Given the description of an element on the screen output the (x, y) to click on. 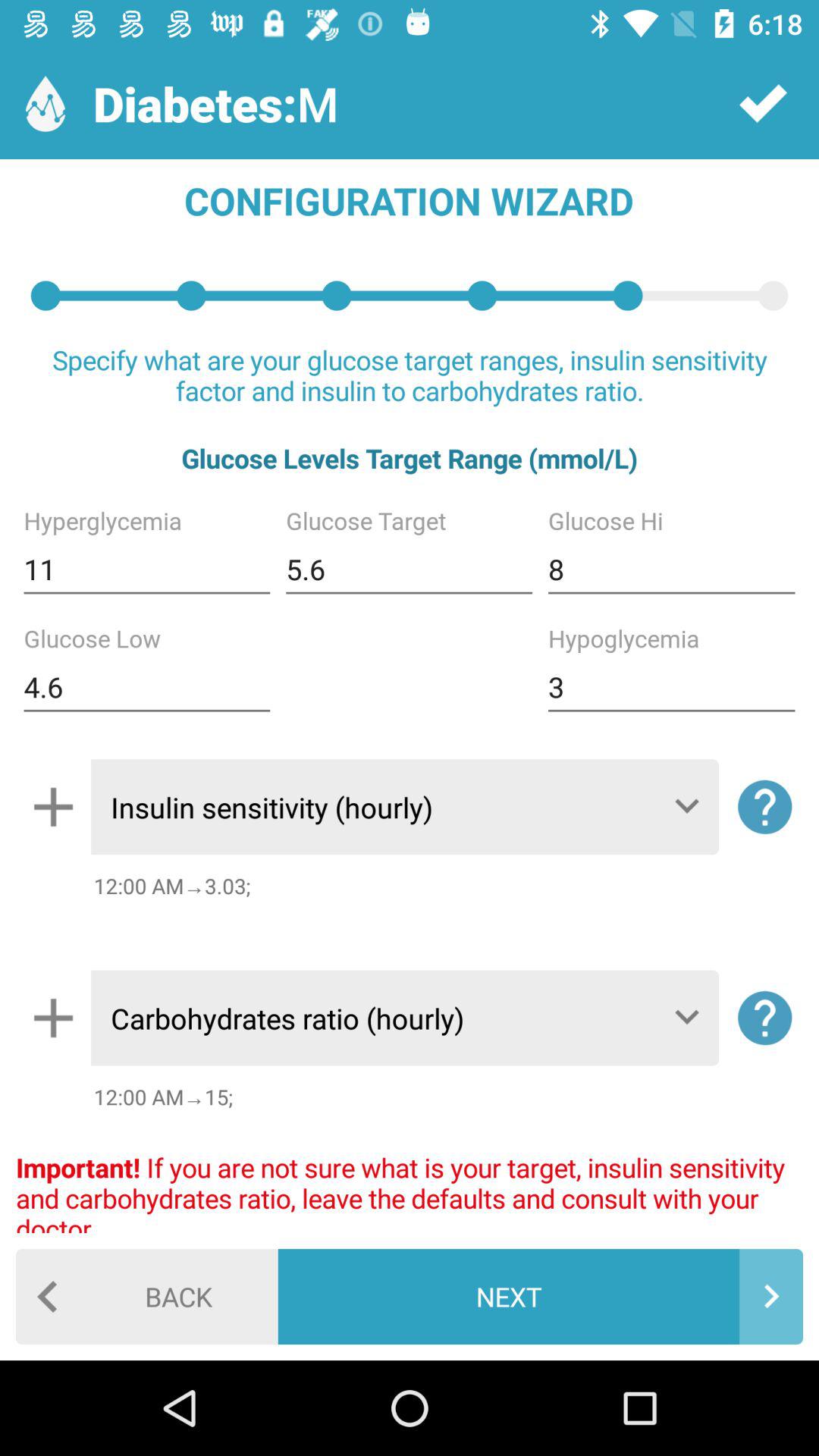
flip to 8 (671, 569)
